Given the description of an element on the screen output the (x, y) to click on. 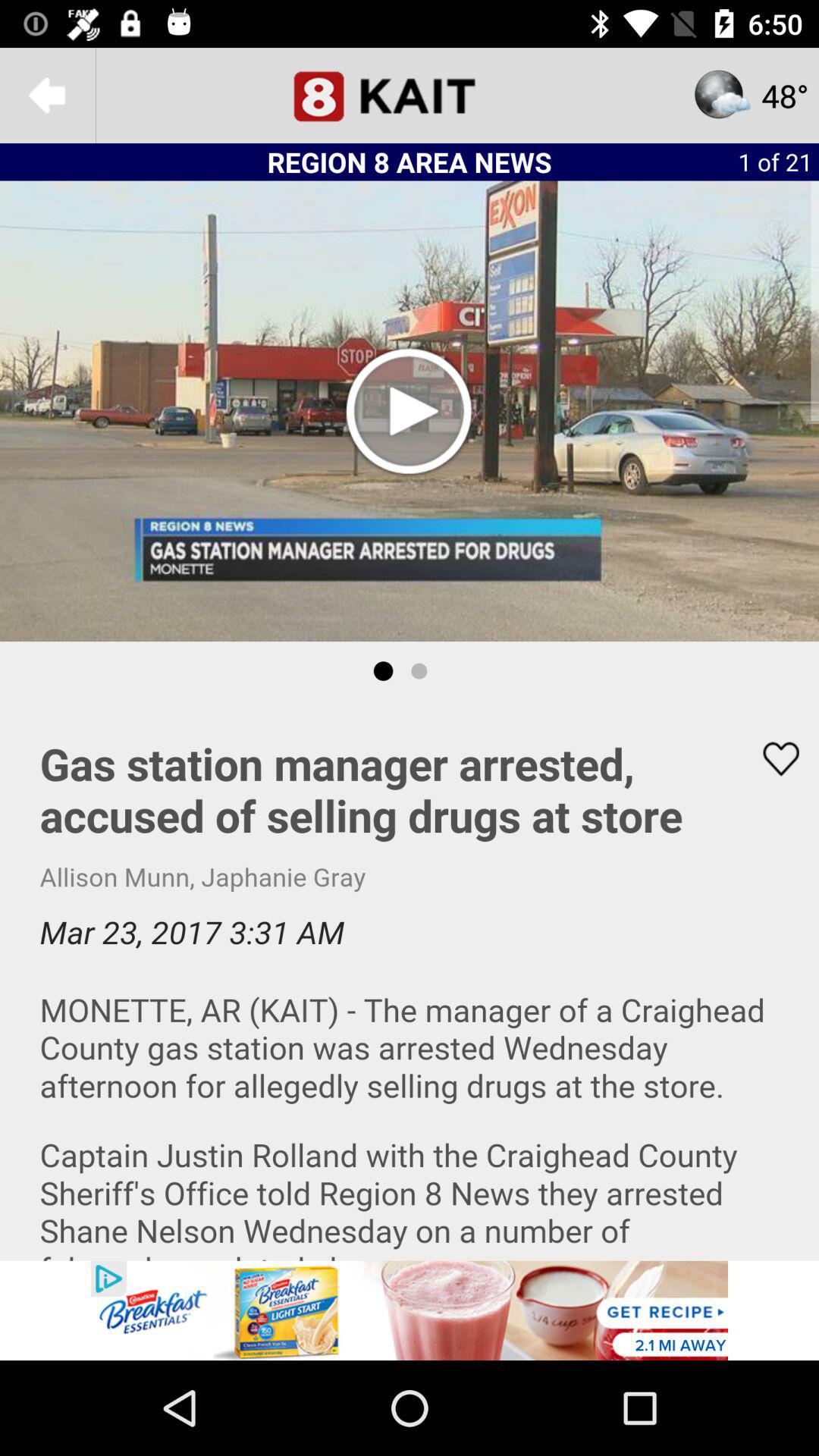
news article area (409, 980)
